Given the description of an element on the screen output the (x, y) to click on. 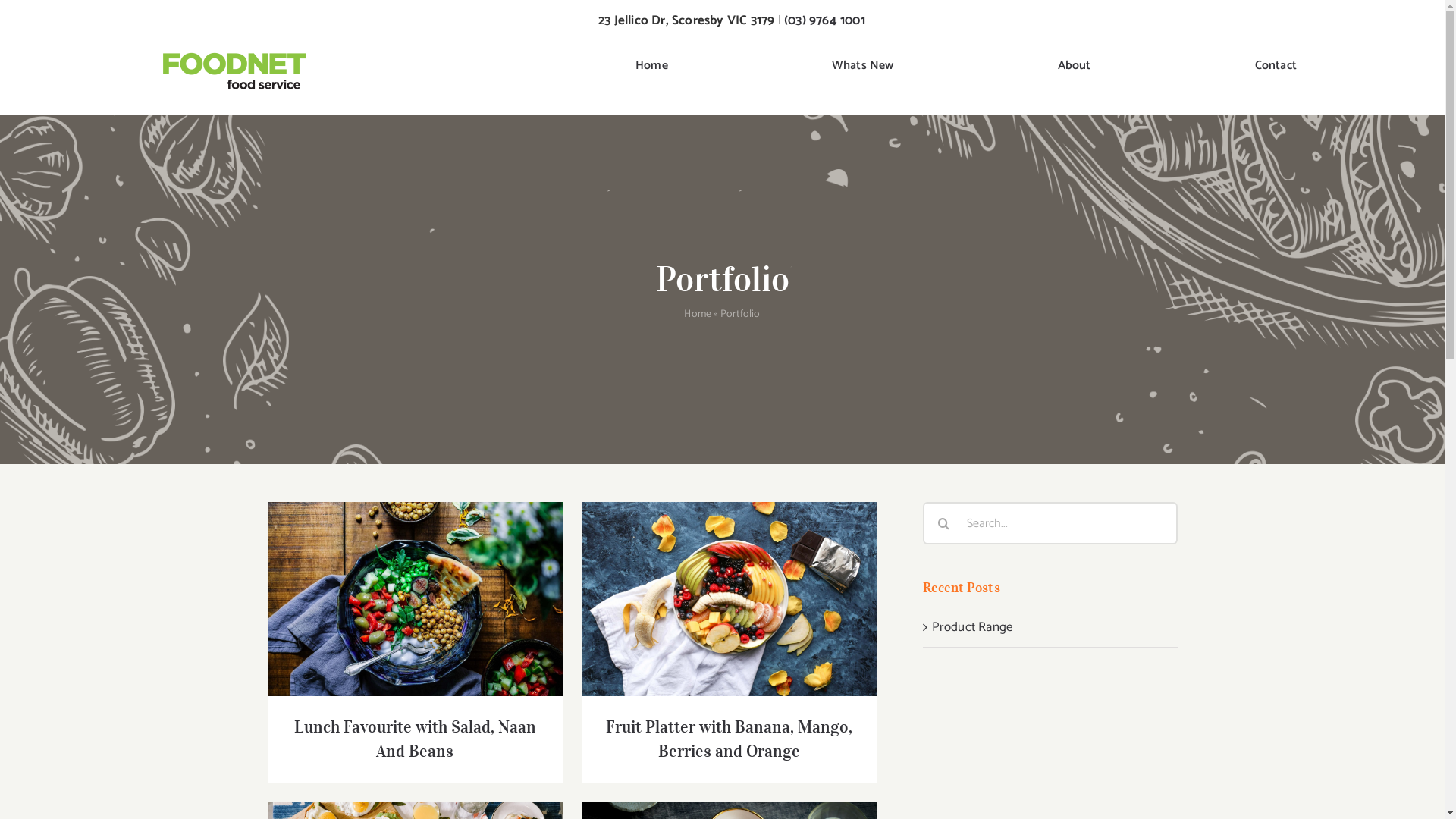
23 Jellico Dr, Scoresby VIC 3179 Element type: text (686, 20)
About Element type: text (1074, 66)
Home Element type: text (697, 314)
Home Element type: text (651, 66)
Lunch Favourite with Salad, Naan And Beans Element type: text (415, 738)
Whats New Element type: text (862, 66)
(03) 9764 1001 Element type: text (824, 20)
Product Range Element type: text (971, 626)
Contact Element type: text (1275, 66)
Fruit Platter with Banana, Mango, Berries and Orange Element type: text (728, 738)
